Given the description of an element on the screen output the (x, y) to click on. 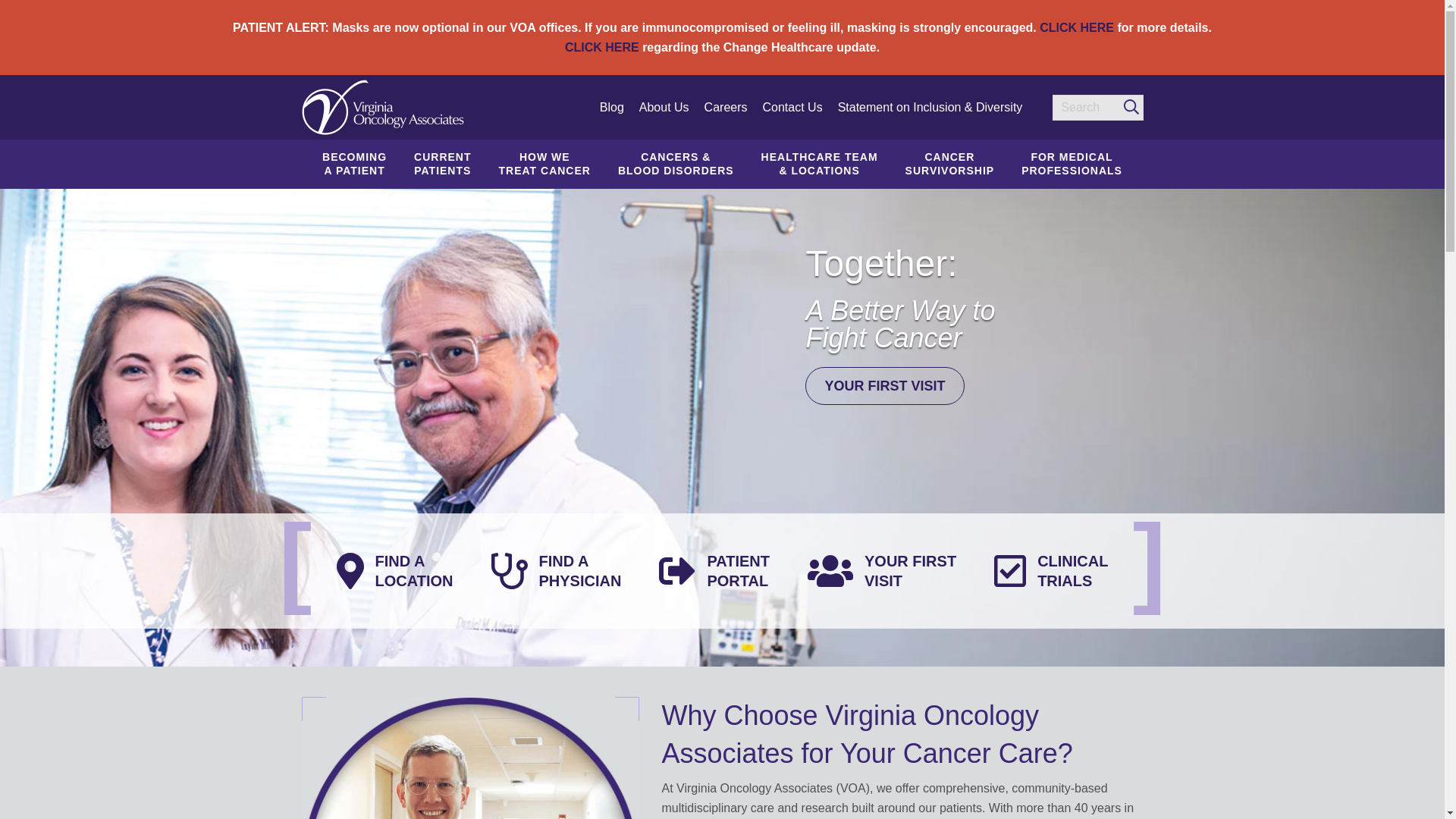
Careers (726, 107)
CLICK HERE (1076, 27)
CLICK HERE (544, 163)
Blog (442, 163)
Contact Us (601, 47)
About Us (354, 163)
